Given the description of an element on the screen output the (x, y) to click on. 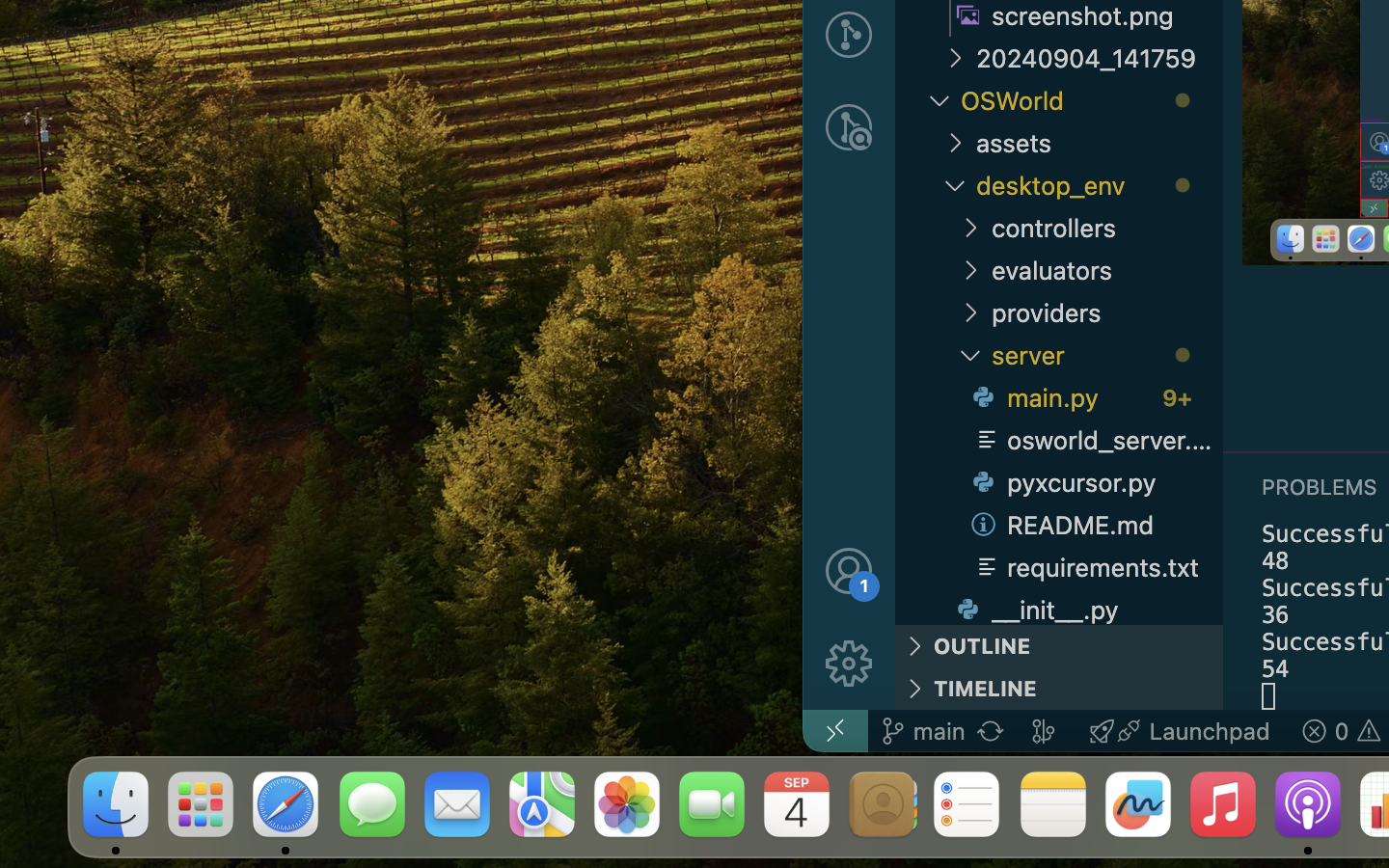
osworld_server.service  Element type: AXGroup (1093, 439)
TIMELINE  Element type: AXButton (1059, 688)
providers Element type: AXGroup (1107, 312)
evaluators Element type: AXGroup (1107, 269)
OSWorld  Element type: AXGroup (1091, 100)
